Given the description of an element on the screen output the (x, y) to click on. 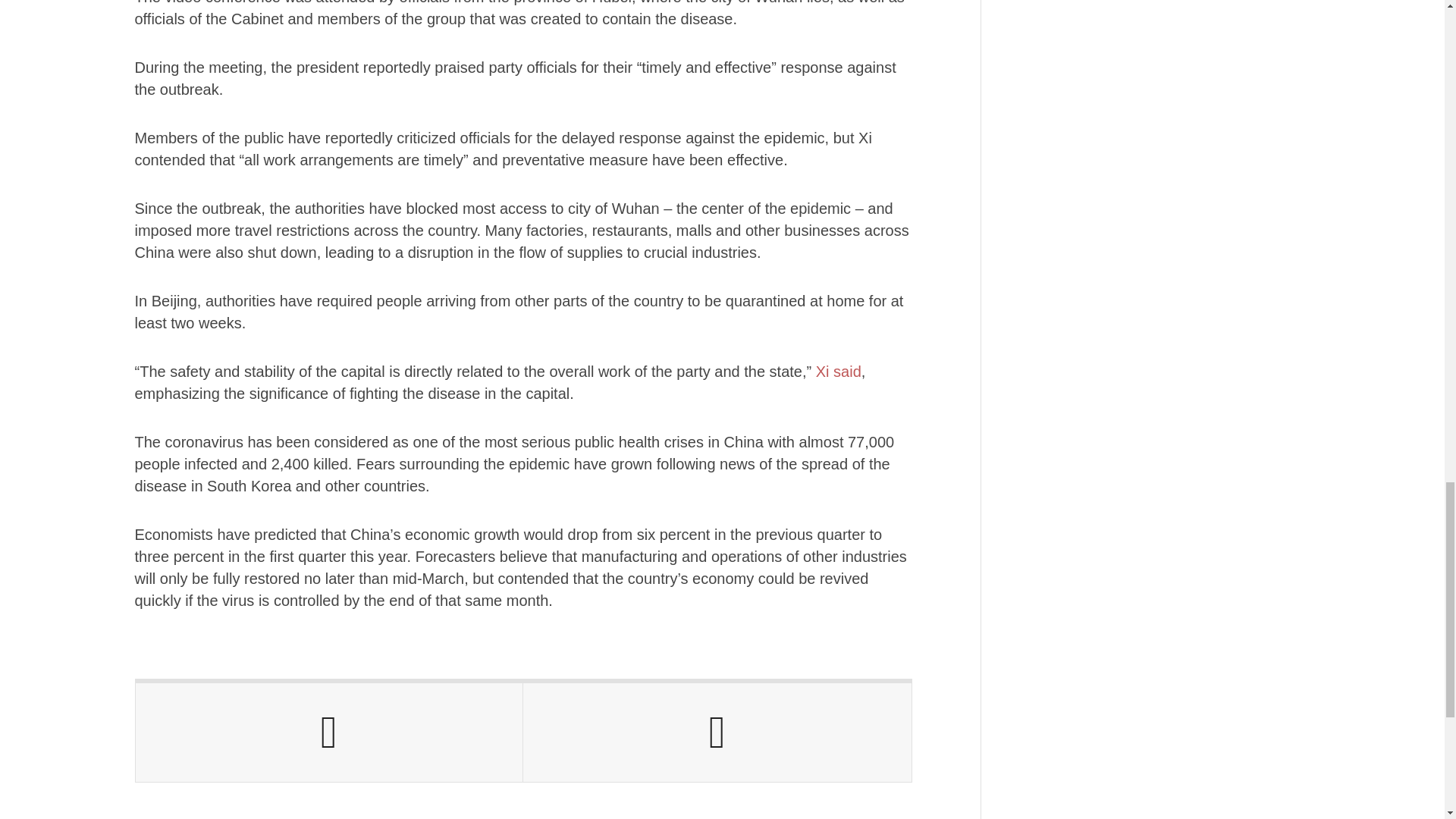
Previous Post (328, 732)
Xi said (835, 371)
Next Post (716, 732)
